Given the description of an element on the screen output the (x, y) to click on. 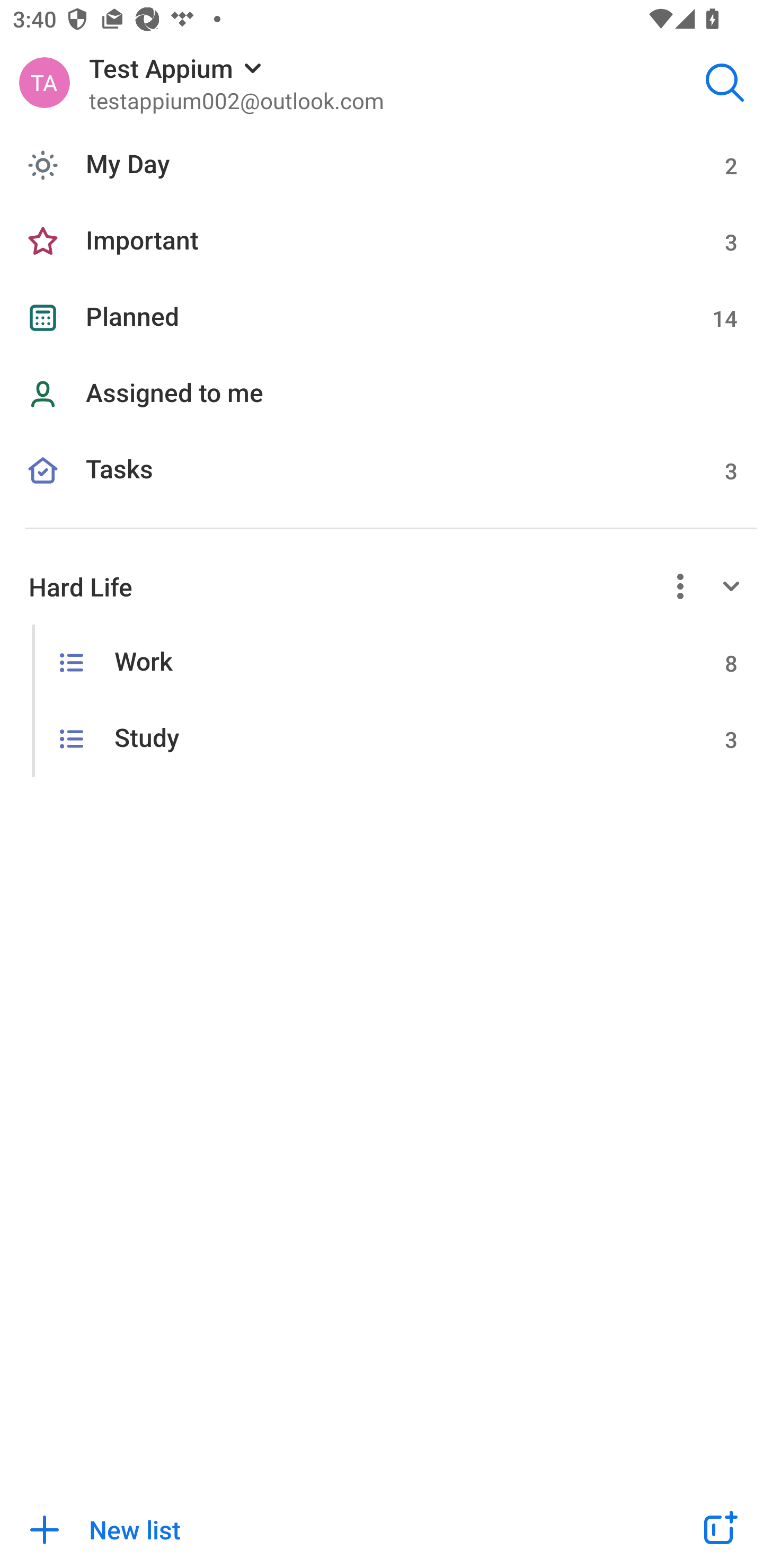
Work, 8 tasks Work 8 (381, 662)
